Given the description of an element on the screen output the (x, y) to click on. 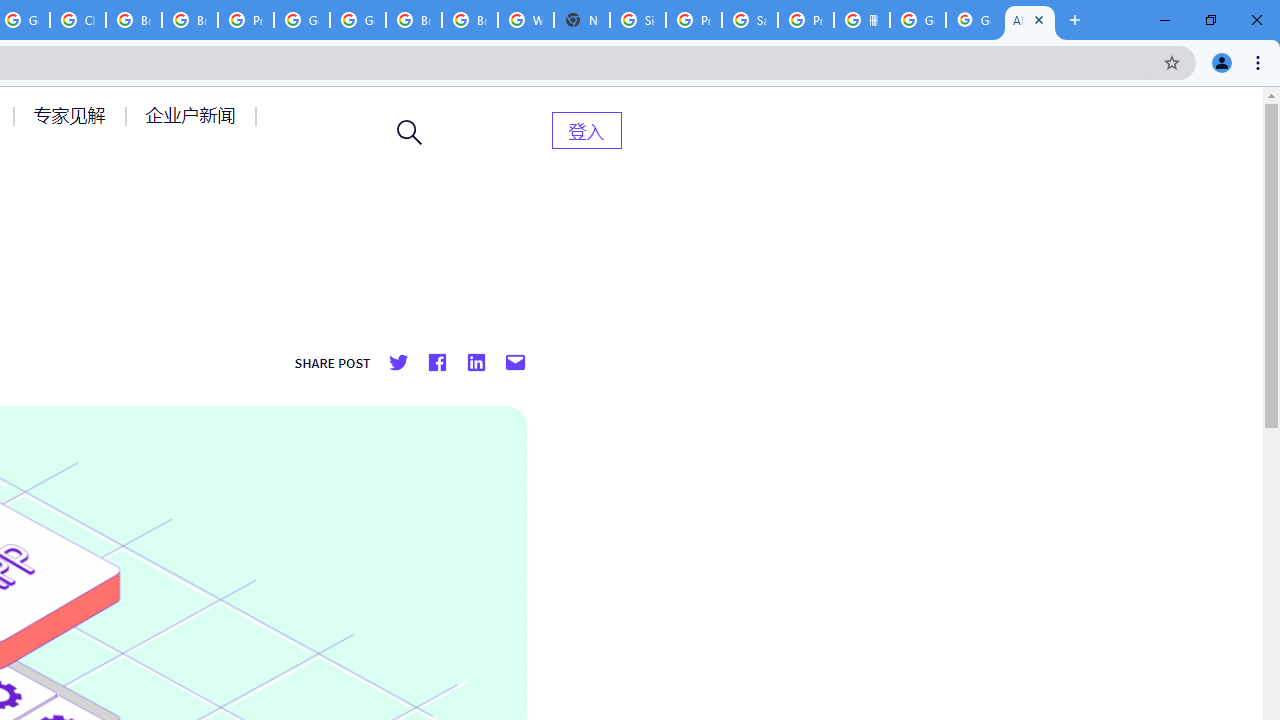
Share on facebook (436, 363)
New Tab (582, 20)
Share by mail (515, 363)
